Given the description of an element on the screen output the (x, y) to click on. 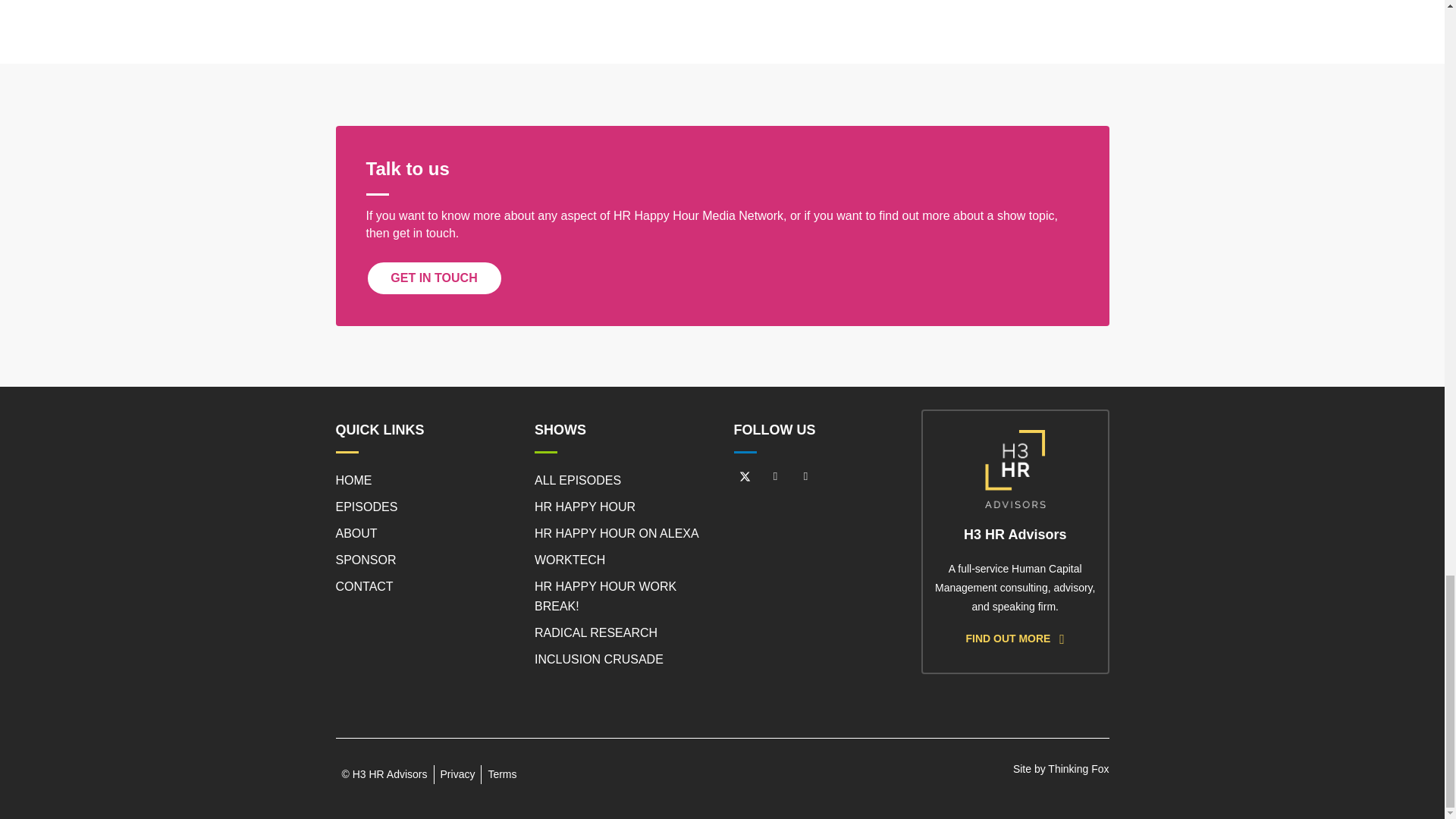
Linkedin (775, 476)
Instagram (805, 476)
